Given the description of an element on the screen output the (x, y) to click on. 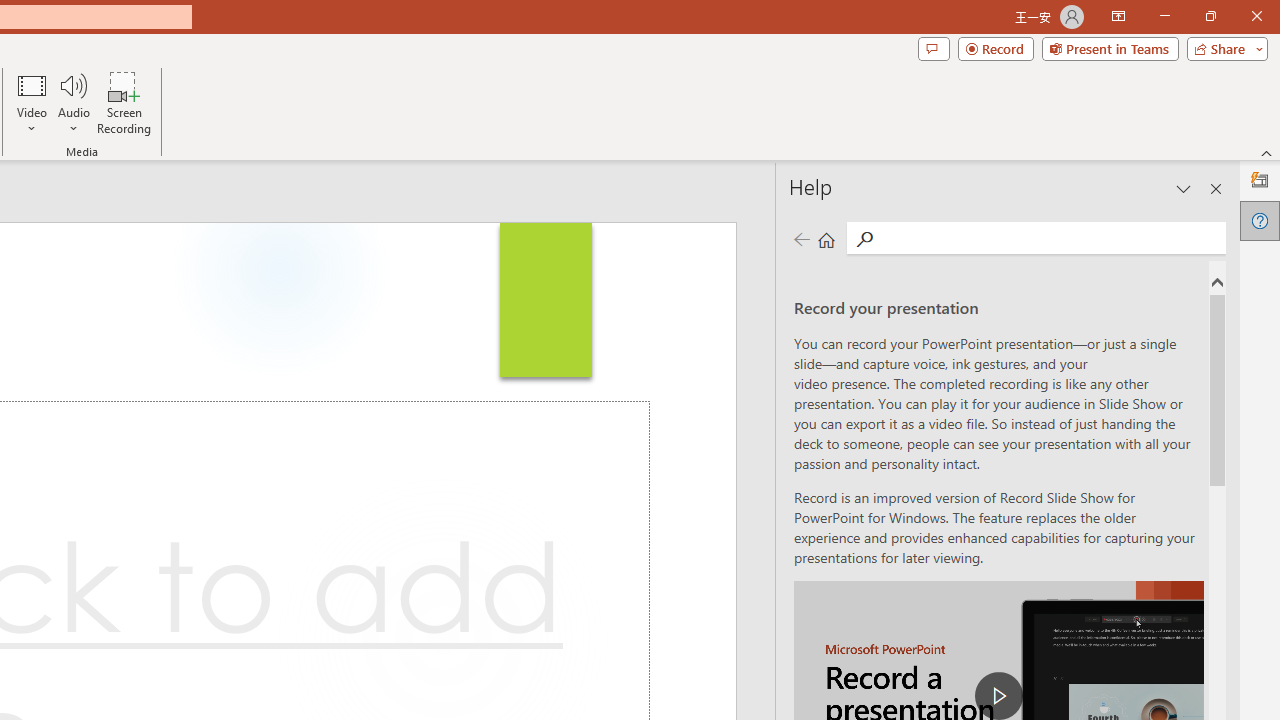
Designer (1260, 180)
Search (864, 238)
Audio (73, 102)
Video (31, 102)
Screen Recording... (123, 102)
Previous page (801, 238)
